Given the description of an element on the screen output the (x, y) to click on. 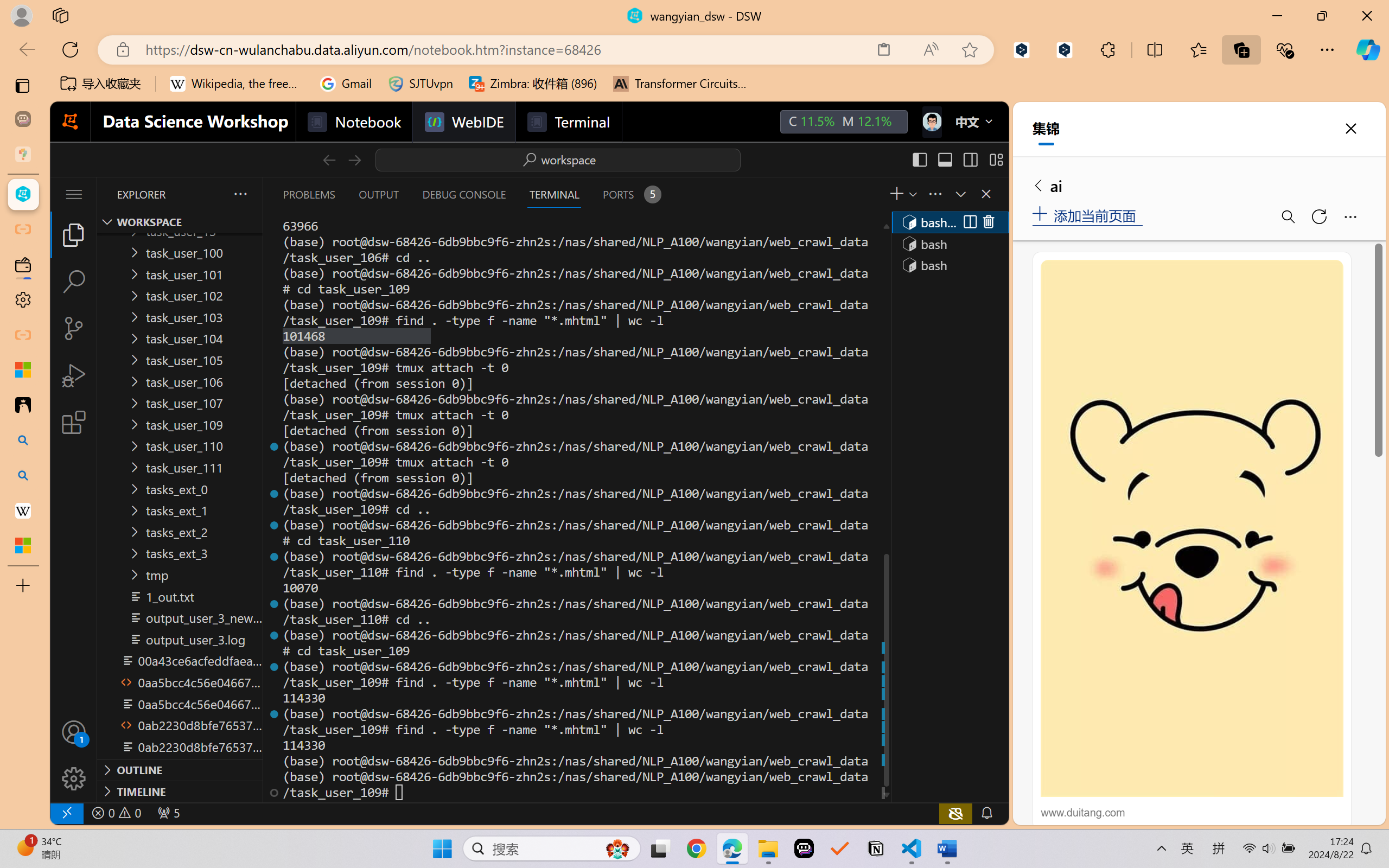
Swap "from" and "to" languages. (1271, 147)
Czech (1231, 163)
Slide Show Previous On (1252, 837)
